Given the description of an element on the screen output the (x, y) to click on. 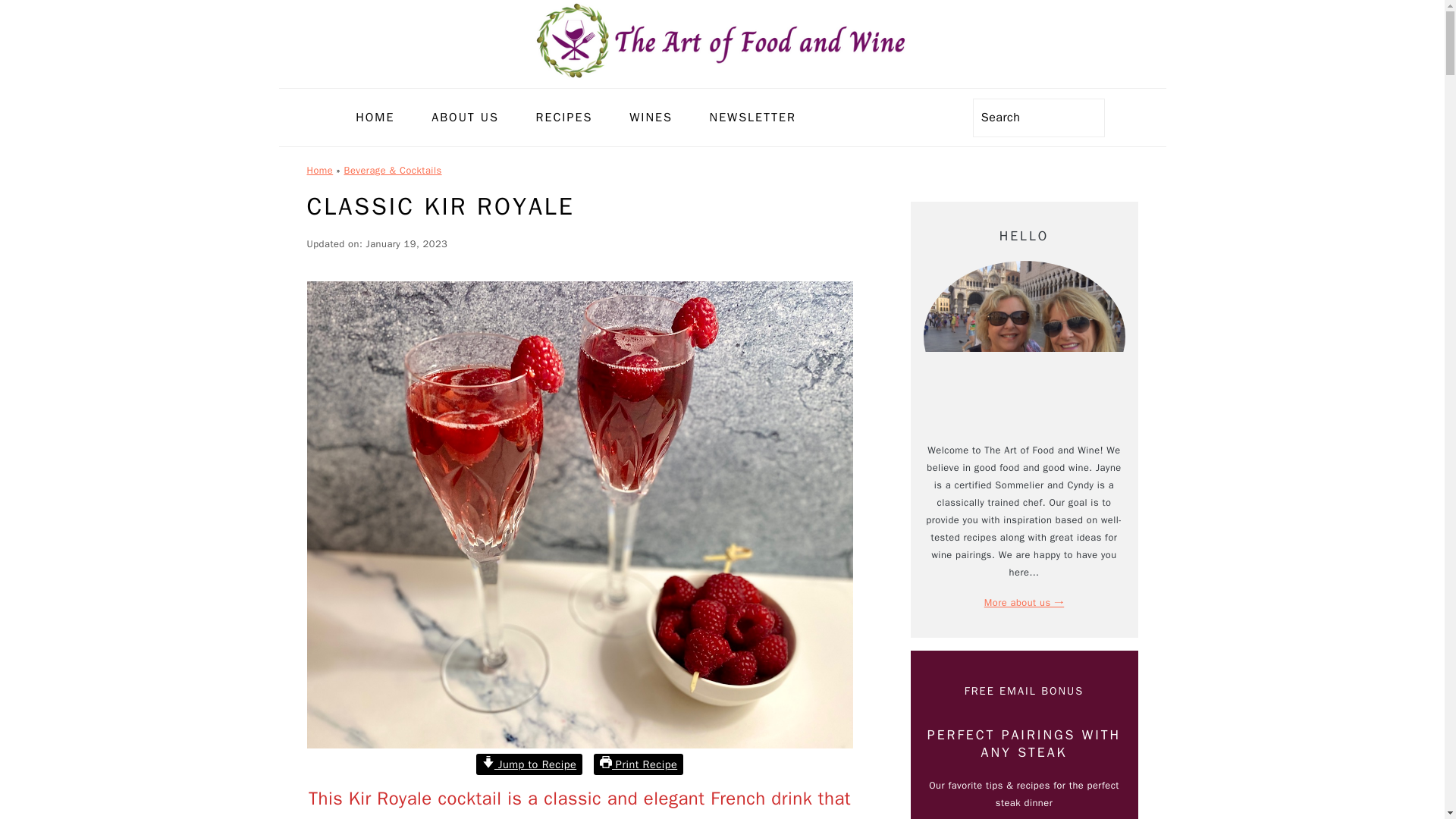
WINES (650, 117)
Facebook (843, 117)
The Art of Food and Wine (721, 40)
HOME (374, 117)
Pinterest (898, 117)
NEWSLETTER (753, 117)
Twitter (925, 117)
Instagram (870, 117)
